Given the description of an element on the screen output the (x, y) to click on. 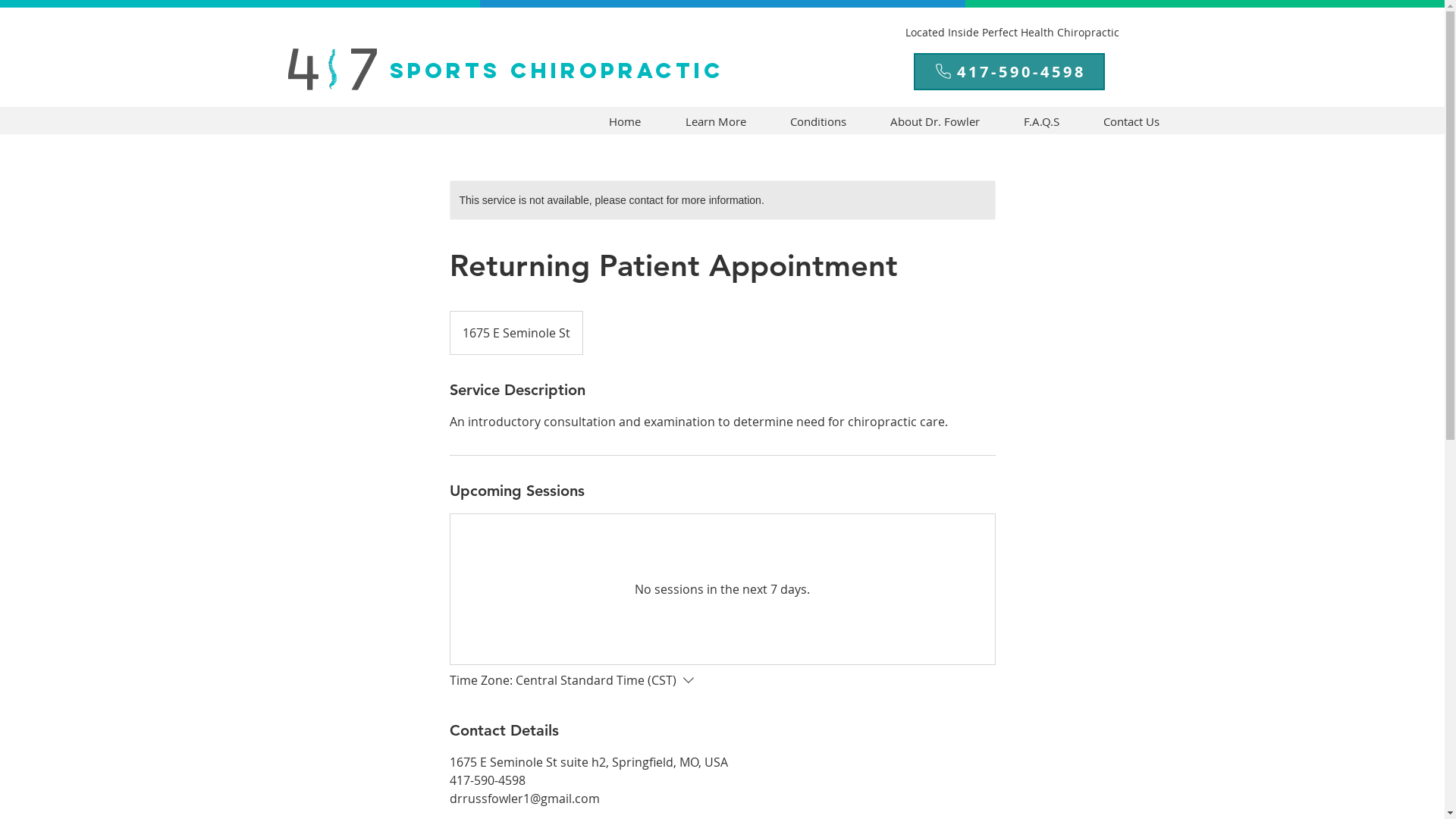
Learn More Element type: text (714, 121)
Home Element type: text (624, 121)
Time Zone:
Central Standard Time (CST) Element type: text (573, 680)
F.A.Q.S Element type: text (1040, 121)
About Dr. Fowler Element type: text (934, 121)
417-590-4598 Element type: text (1008, 71)
Contact Us Element type: text (1131, 121)
